Given the description of an element on the screen output the (x, y) to click on. 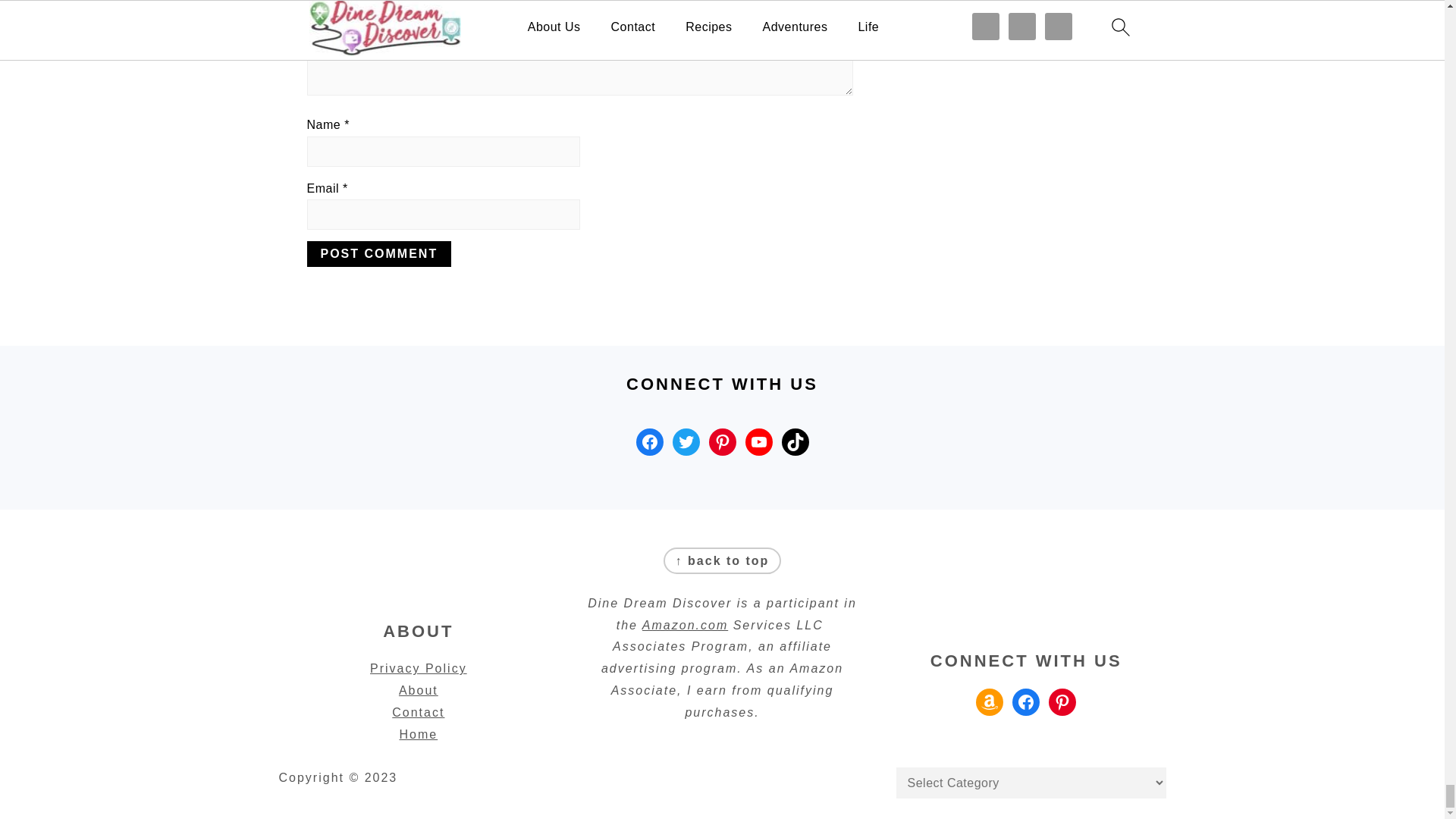
Post Comment (378, 253)
